Given the description of an element on the screen output the (x, y) to click on. 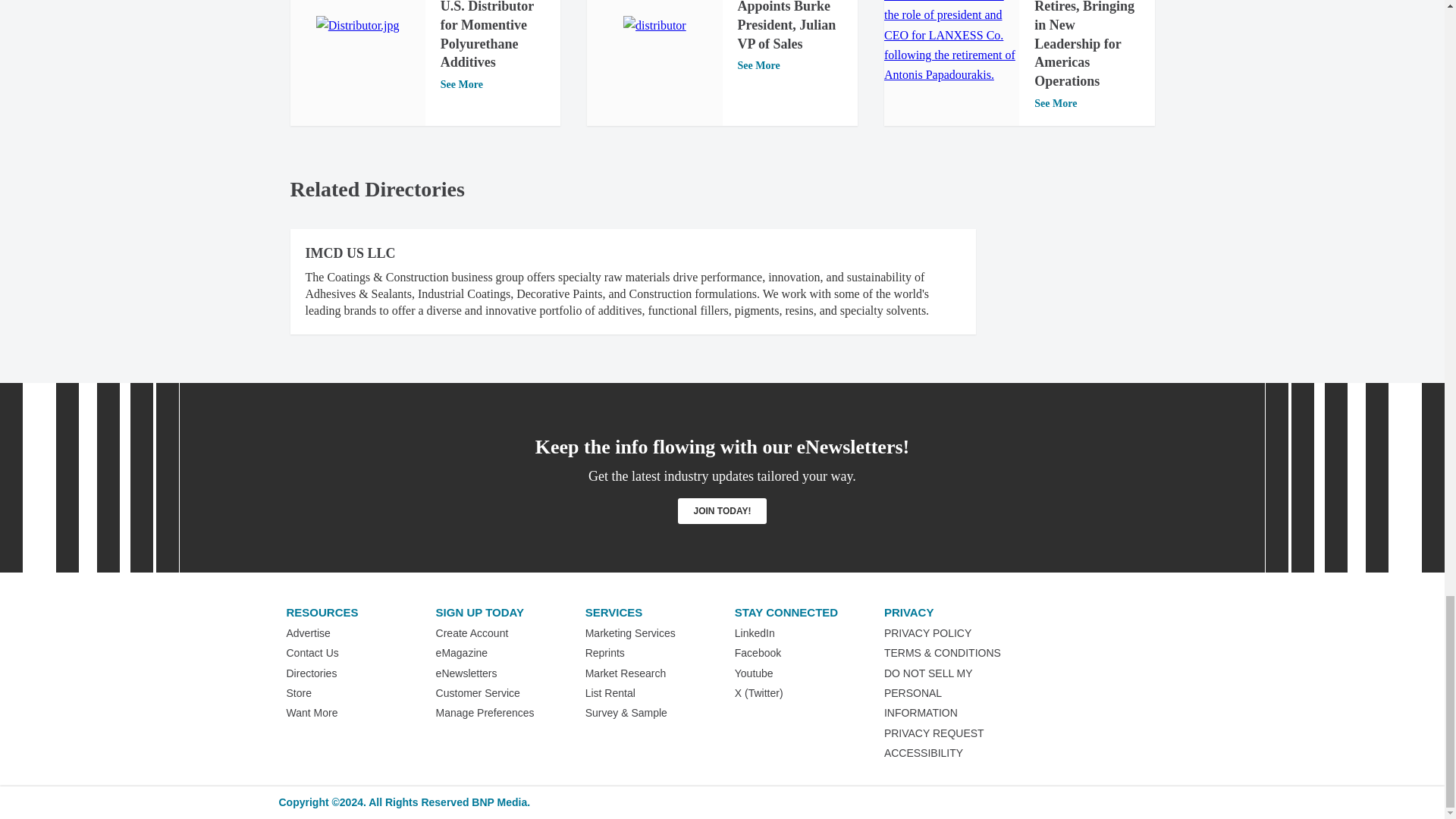
distributor (654, 25)
LAXNESS Personnel.jpg (951, 42)
Distributor.jpg (356, 25)
